Given the description of an element on the screen output the (x, y) to click on. 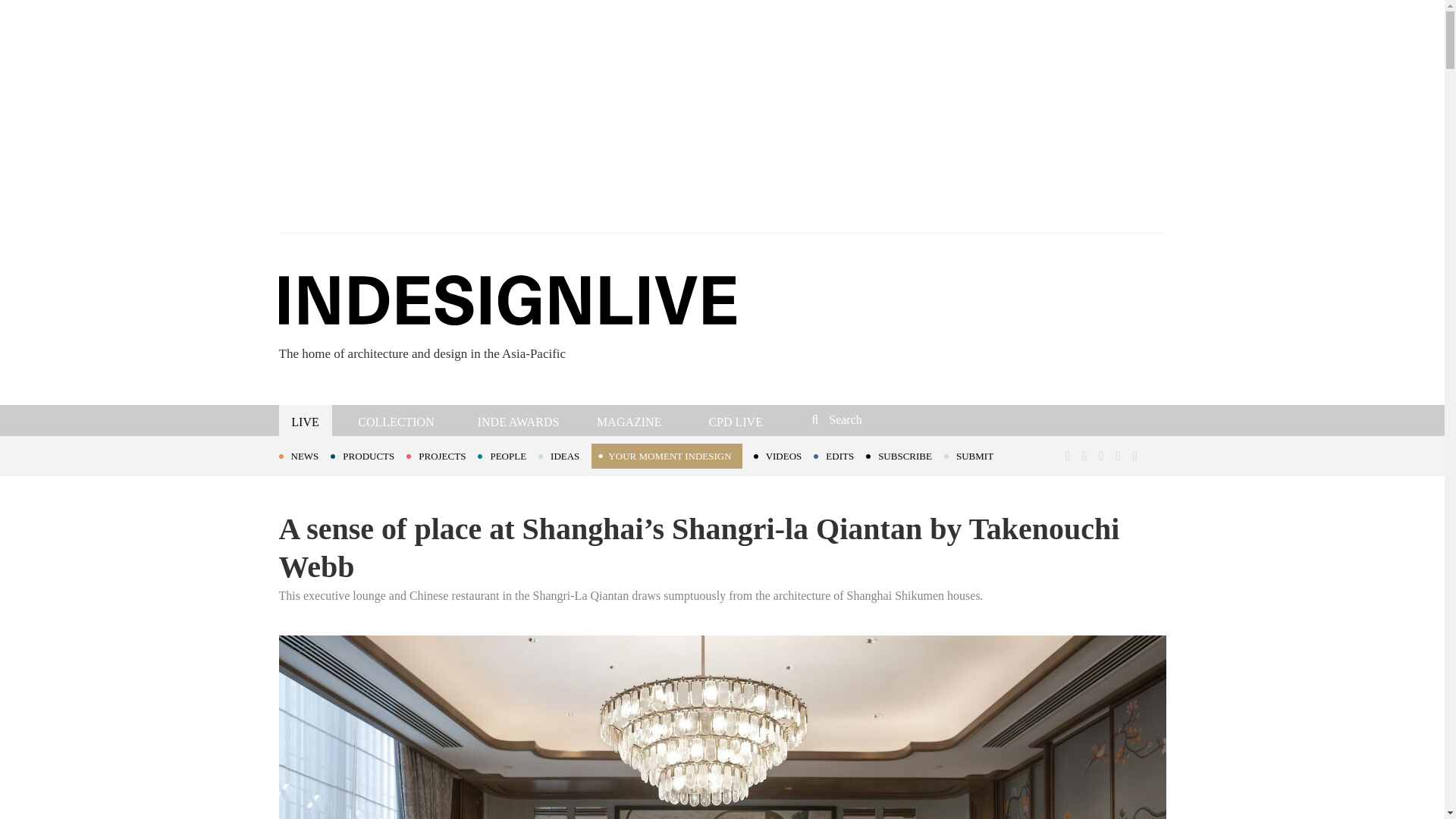
PROJECTS (441, 455)
SUBMIT (974, 455)
PEOPLE (507, 455)
Search (913, 418)
SUBSCRIBE (904, 455)
PRODUCTS (368, 455)
IDEAS (564, 455)
YOUR MOMENT INDESIGN (666, 455)
VIDEOS (783, 455)
